Given the description of an element on the screen output the (x, y) to click on. 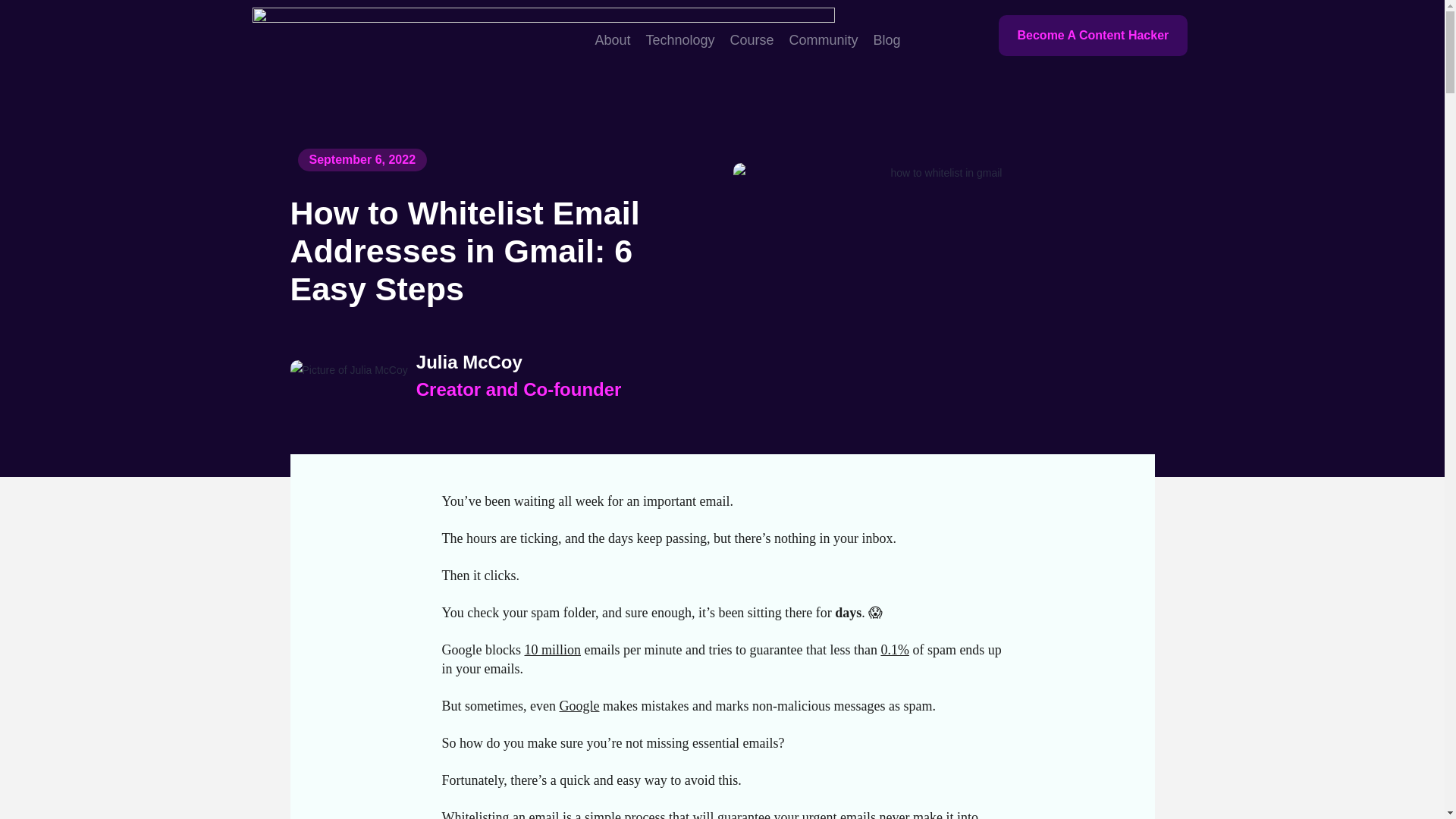
Technology (679, 39)
Course (752, 39)
Community (824, 39)
10 million (552, 649)
Become A Content Hacker (1092, 35)
About (612, 39)
Google (578, 705)
